Given the description of an element on the screen output the (x, y) to click on. 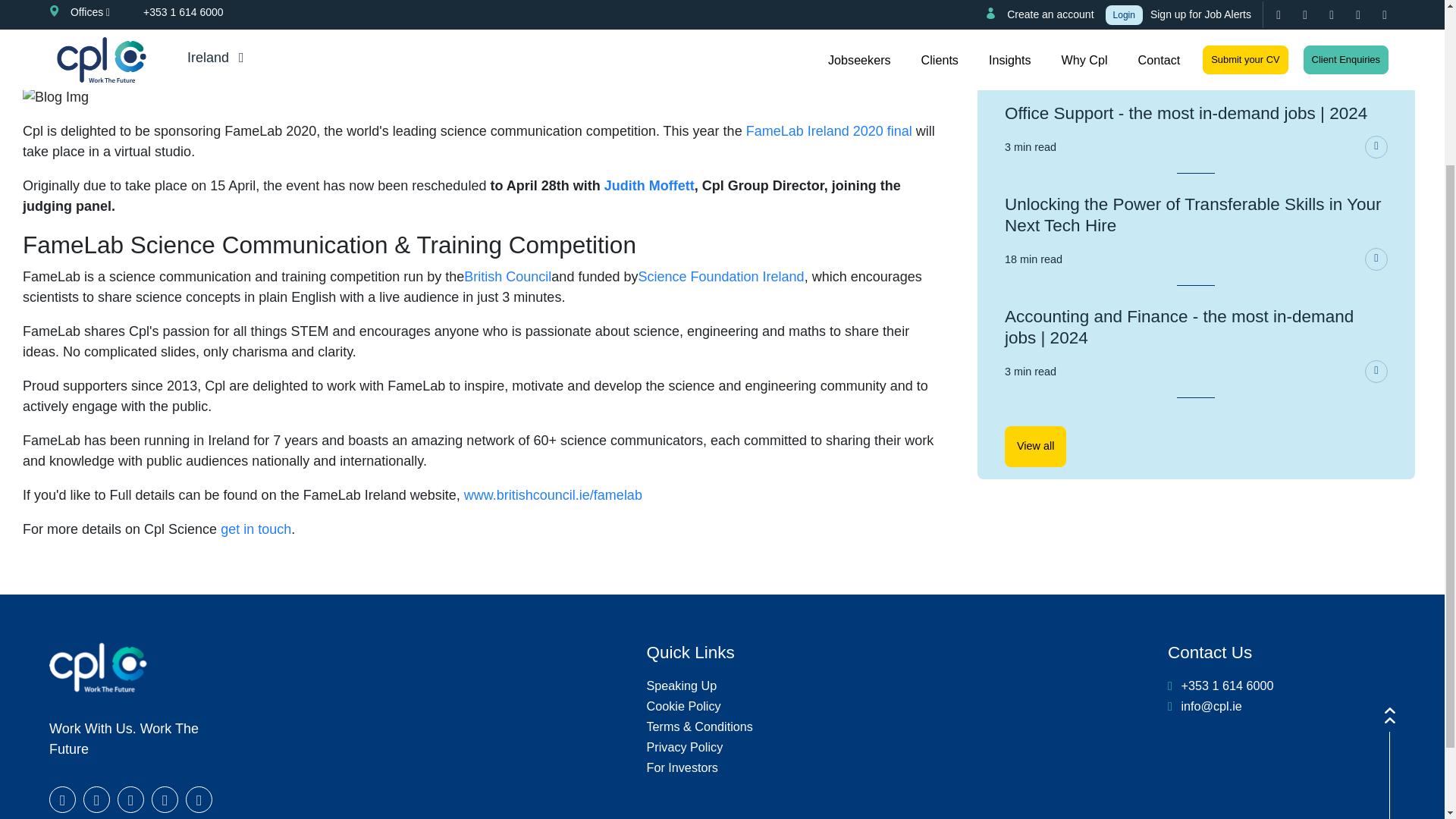
facebook (62, 799)
instagram (199, 799)
youtube (164, 799)
twitter (96, 799)
linkedIn (130, 799)
